Given the description of an element on the screen output the (x, y) to click on. 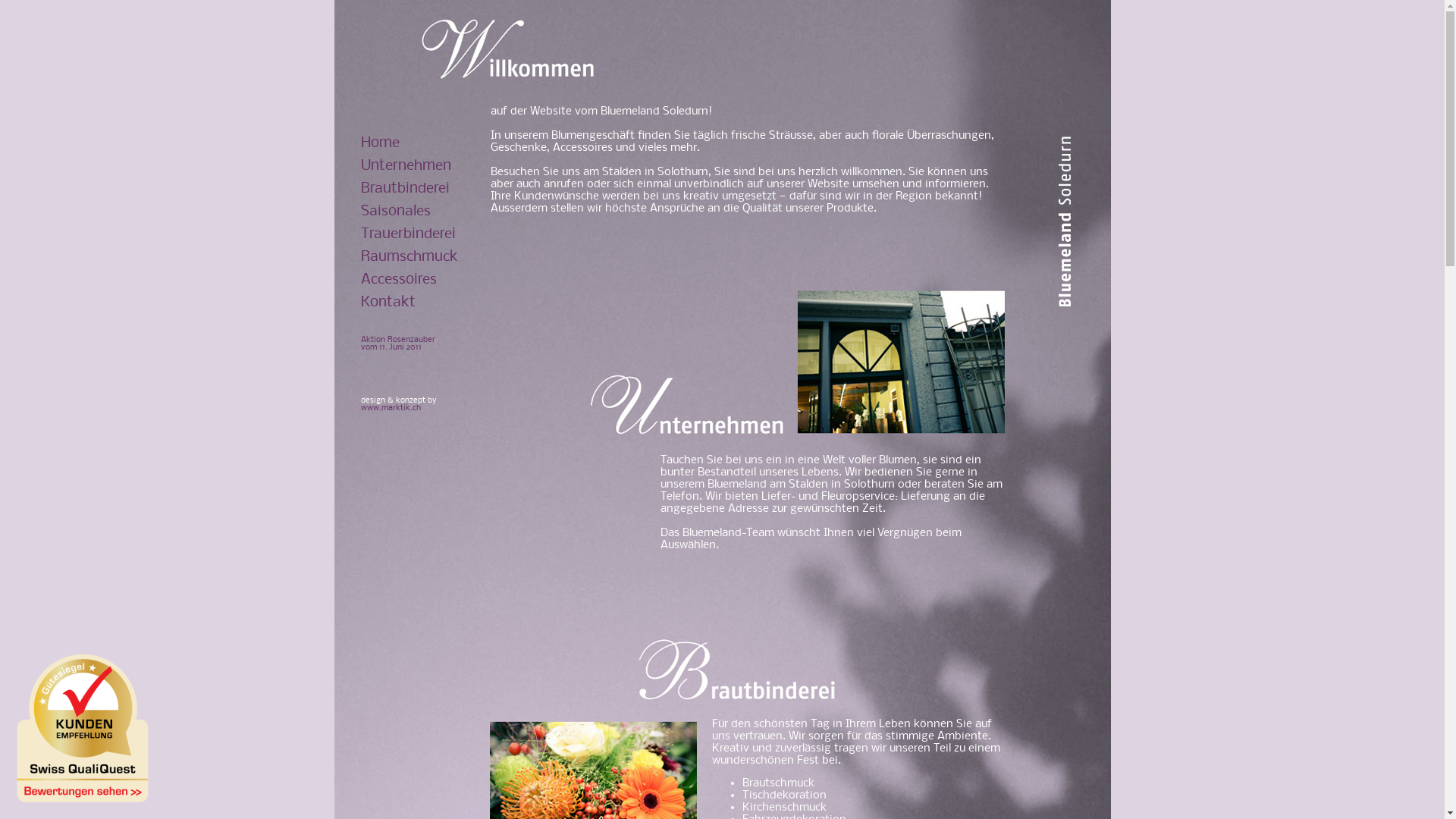
Unternehmen Element type: text (405, 164)
Home Element type: text (379, 142)
Brautbinderei Element type: text (404, 187)
www.marktik.ch Element type: text (390, 407)
Saisonales Element type: text (395, 210)
Kontakt Element type: text (387, 301)
Trauerbinderei Element type: text (407, 233)
Aktion Rosenzauber
vom 11. Juni 2011 Element type: text (397, 343)
Raumschmuck Element type: text (409, 255)
Accessoires Element type: text (398, 278)
